Given the description of an element on the screen output the (x, y) to click on. 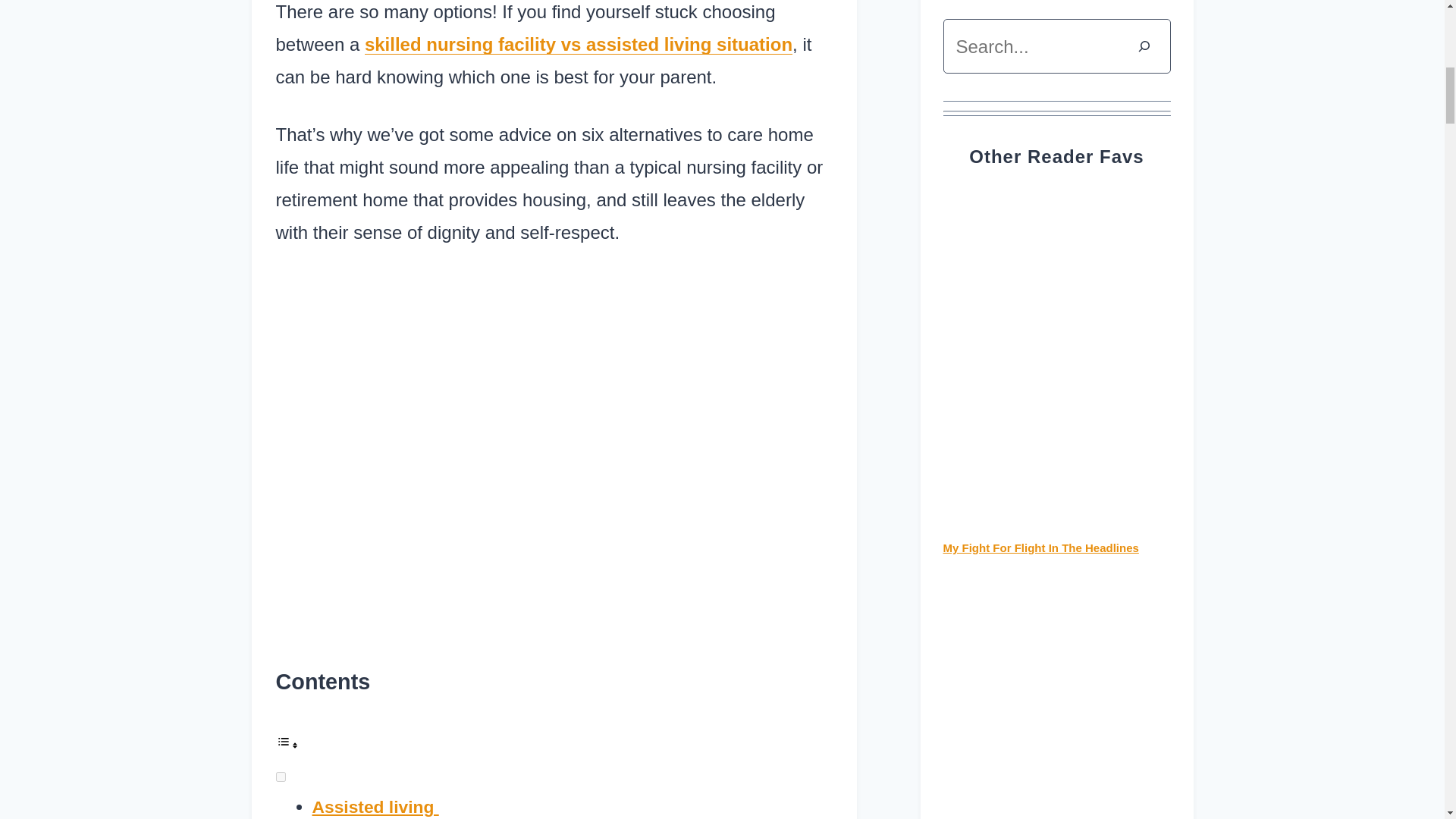
on (280, 777)
Assisted living  (376, 806)
skilled nursing facility vs assisted living situation (578, 44)
